Given the description of an element on the screen output the (x, y) to click on. 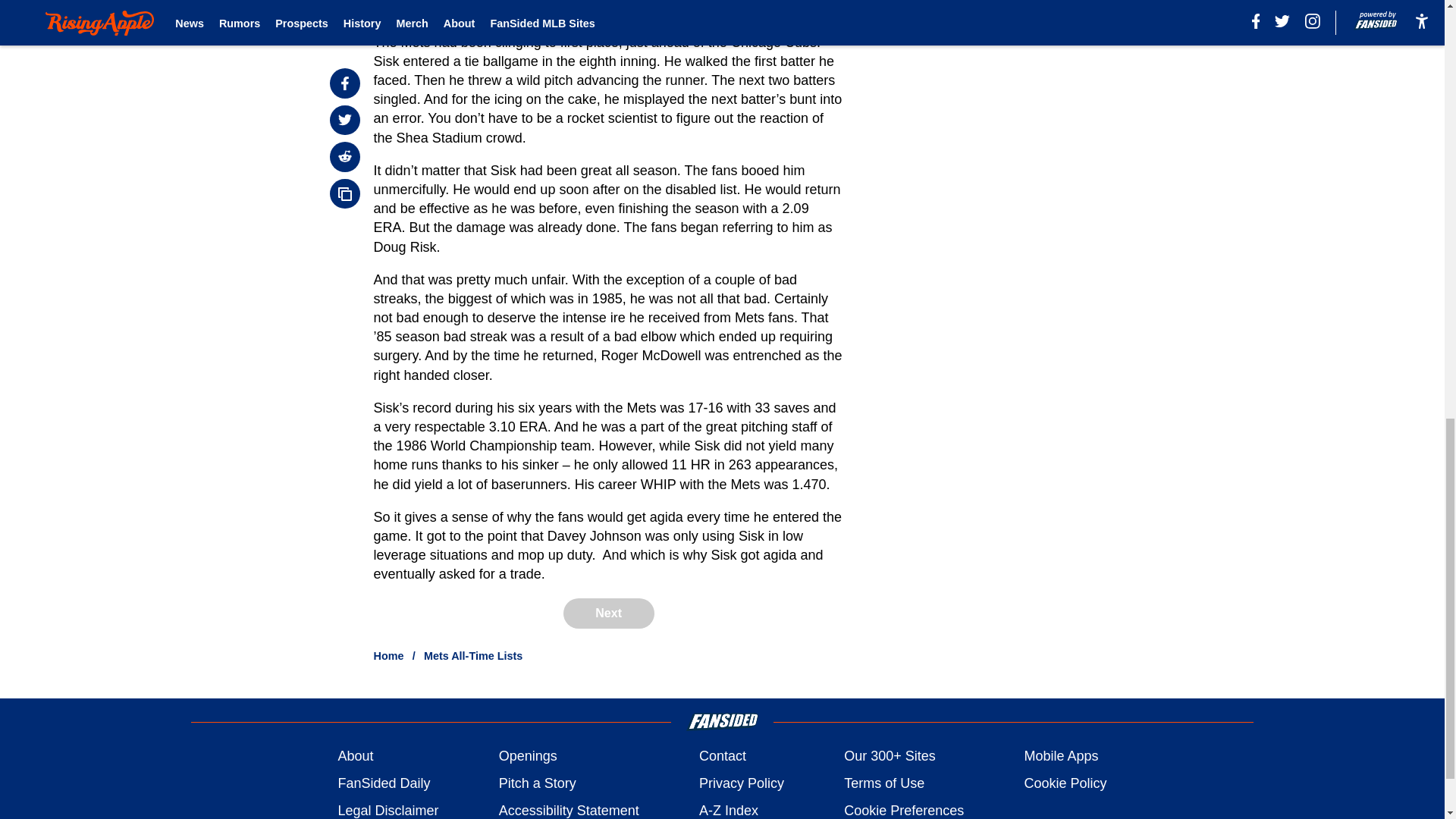
Mets All-Time Lists (472, 655)
Home (389, 655)
Next (608, 613)
